Given the description of an element on the screen output the (x, y) to click on. 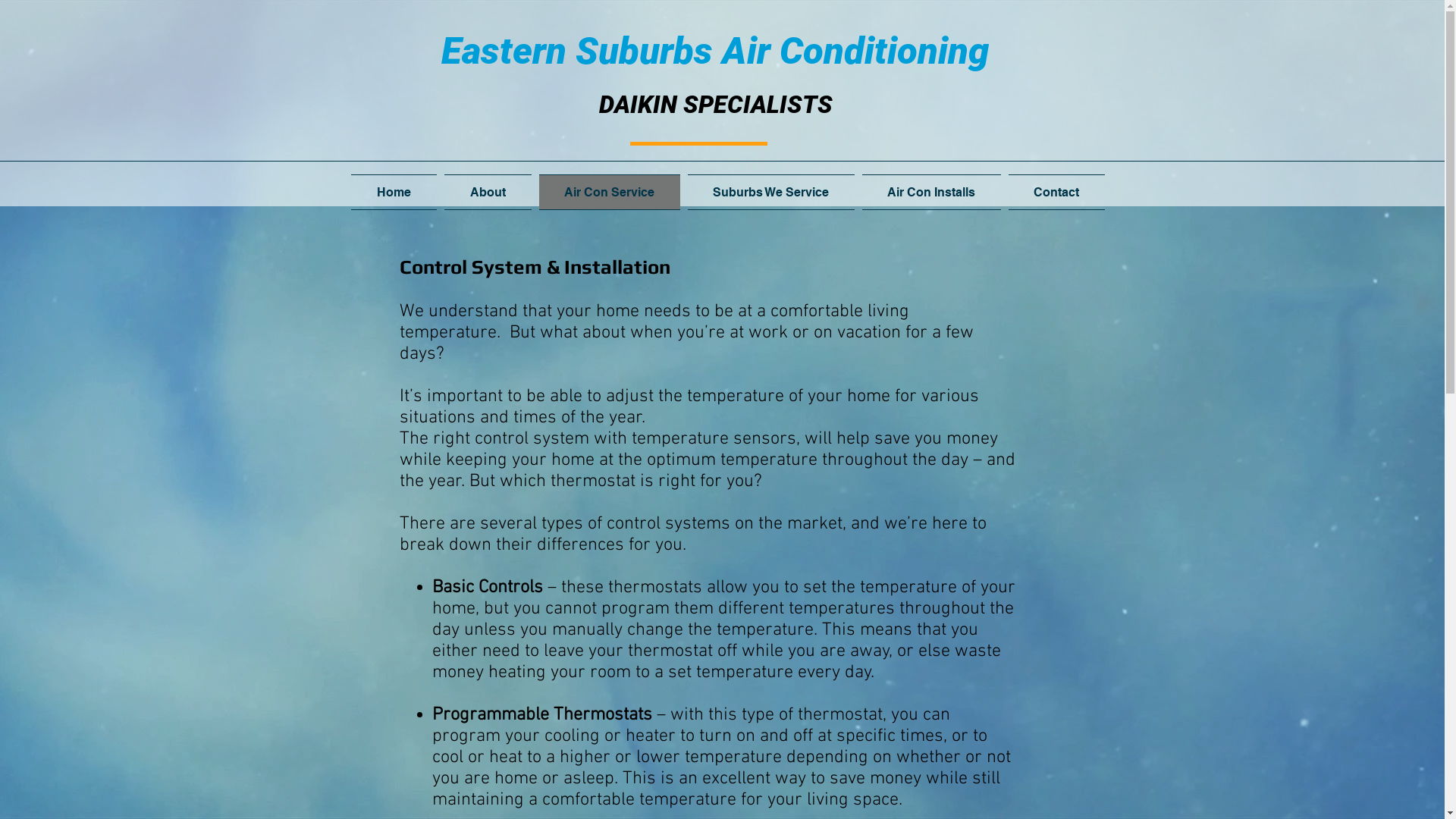
Air Con Service Element type: text (609, 192)
Suburbs We Service Element type: text (771, 192)
Home Element type: text (394, 192)
Contact Element type: text (1054, 192)
About Element type: text (486, 192)
Air Con Installs Element type: text (931, 192)
